Given the description of an element on the screen output the (x, y) to click on. 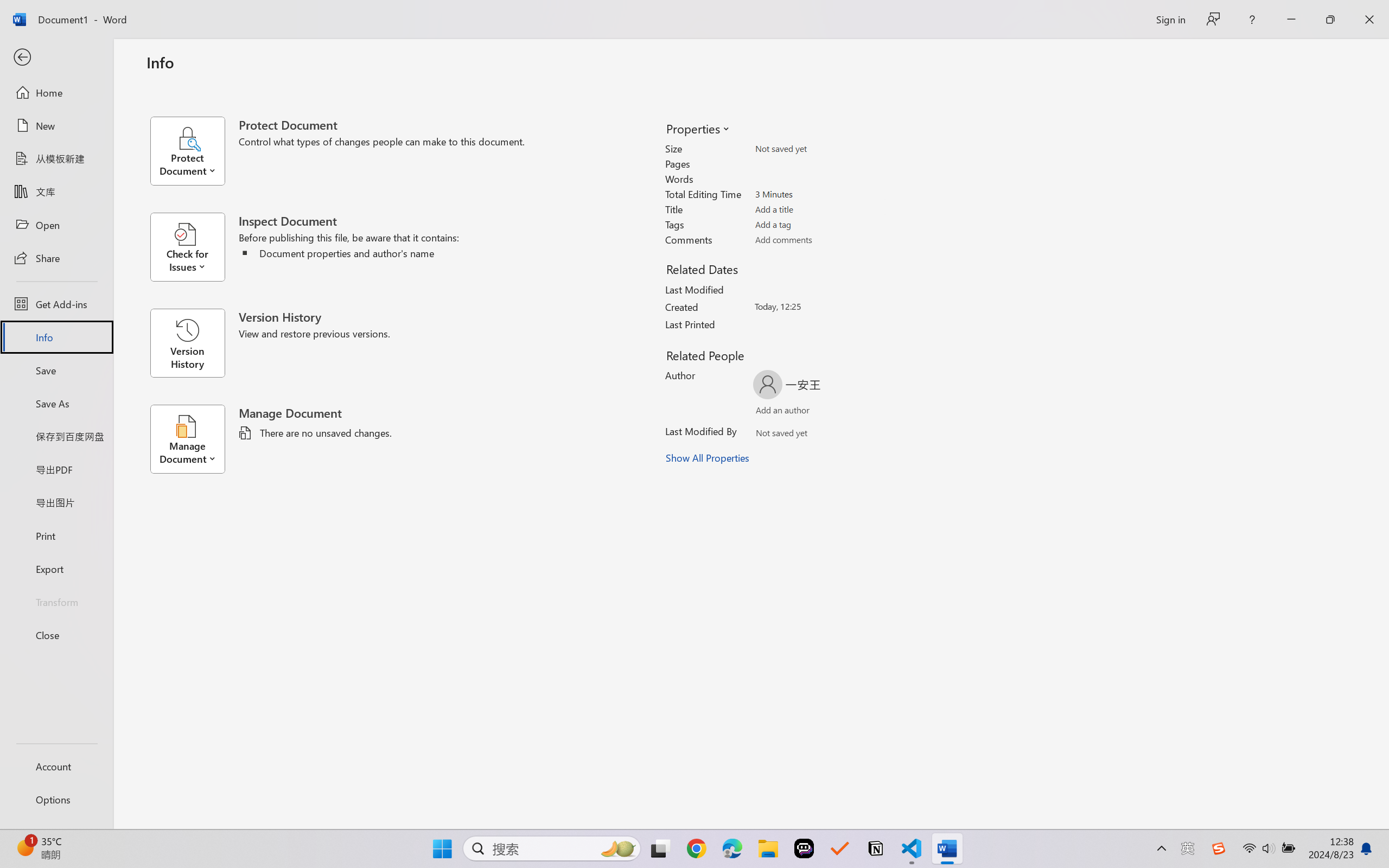
Manage Document (194, 438)
Size (818, 148)
Not saved yet (772, 434)
Tags (818, 223)
Print (56, 535)
Version History (187, 343)
Check for Issues (194, 246)
